Given the description of an element on the screen output the (x, y) to click on. 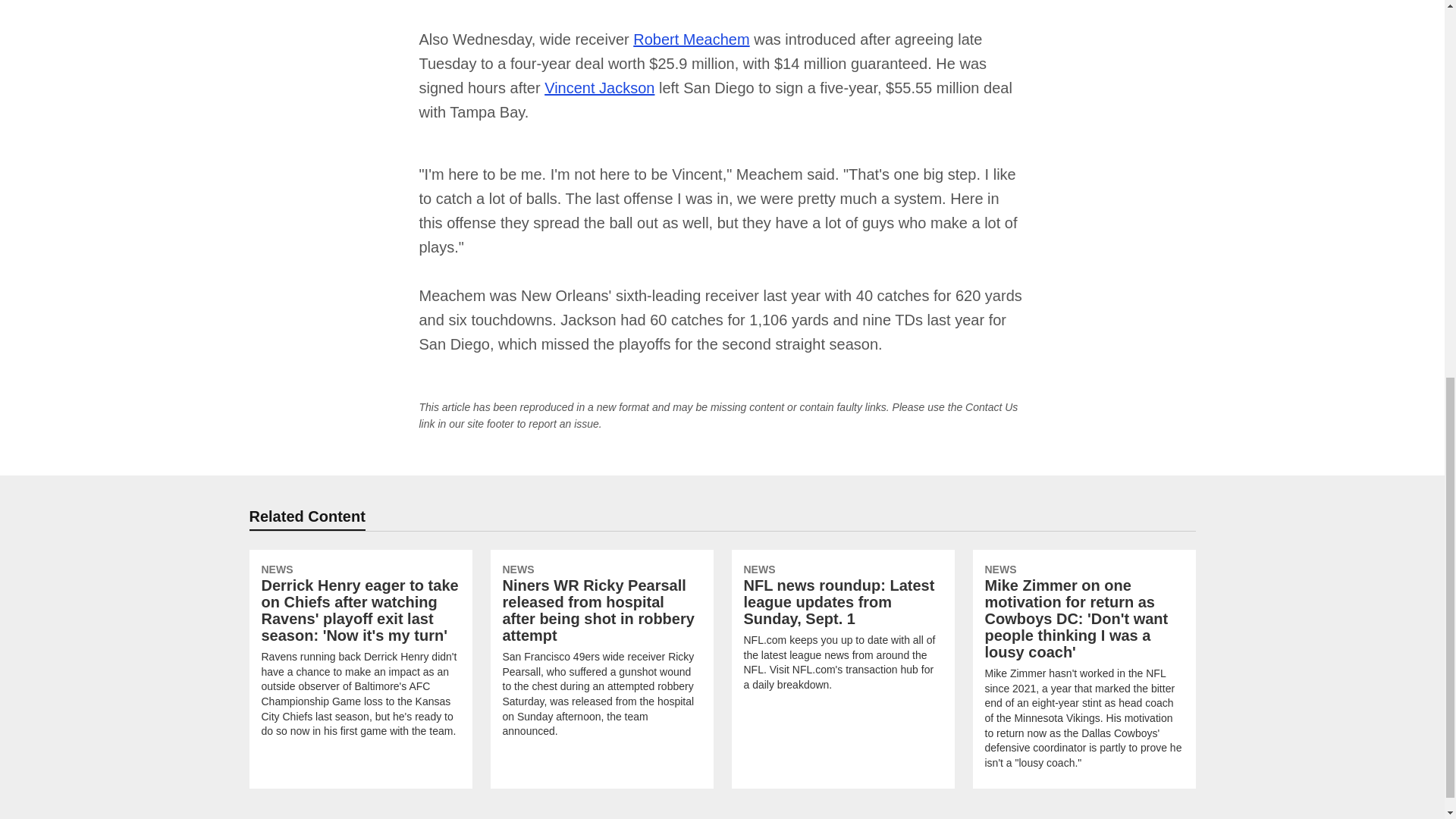
Vincent Jackson (598, 87)
NFL news roundup: Latest league updates from Sunday, Sept. 1 (841, 630)
Robert Meachem (691, 39)
